Given the description of an element on the screen output the (x, y) to click on. 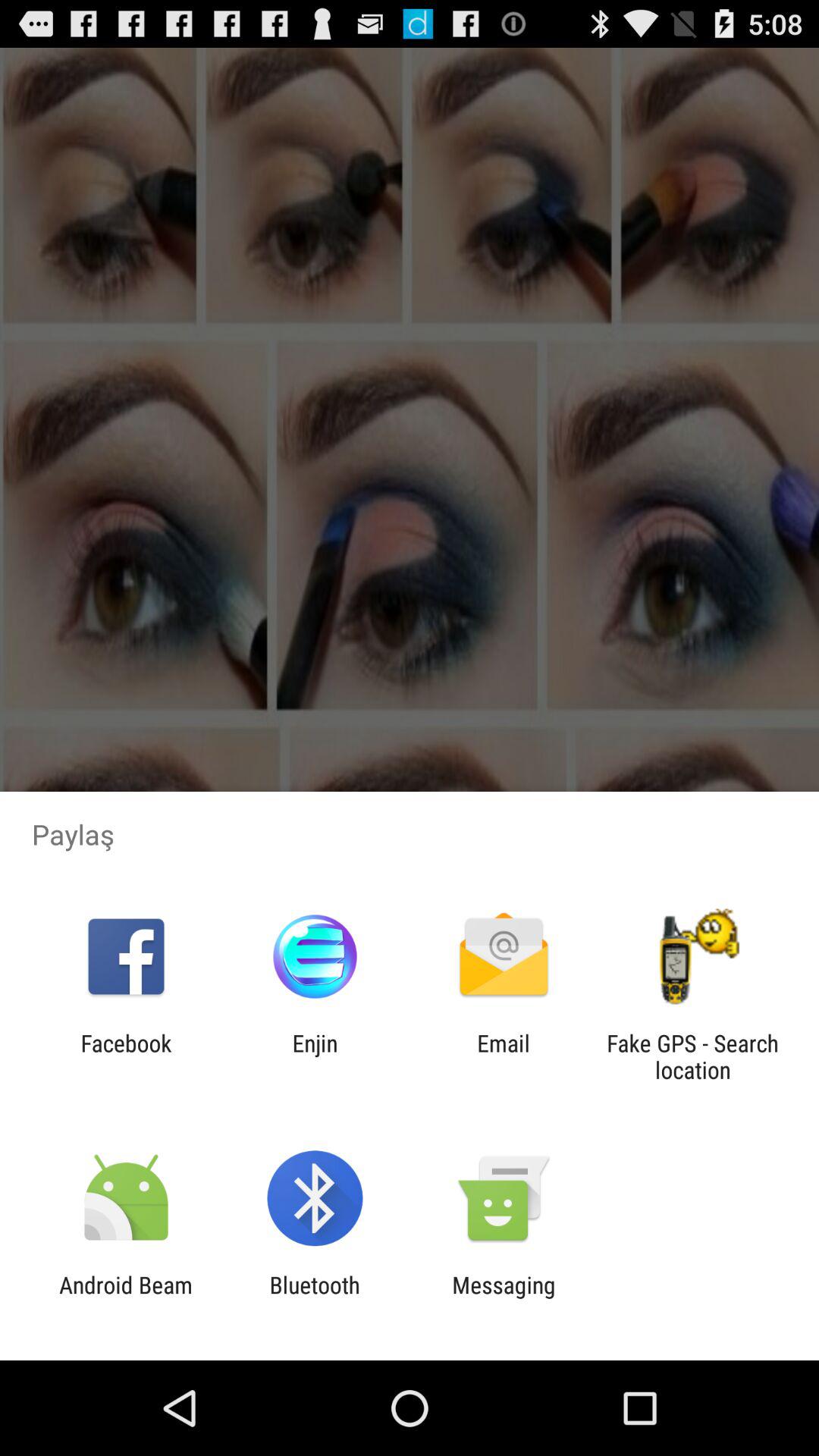
turn off item next to android beam item (314, 1298)
